Given the description of an element on the screen output the (x, y) to click on. 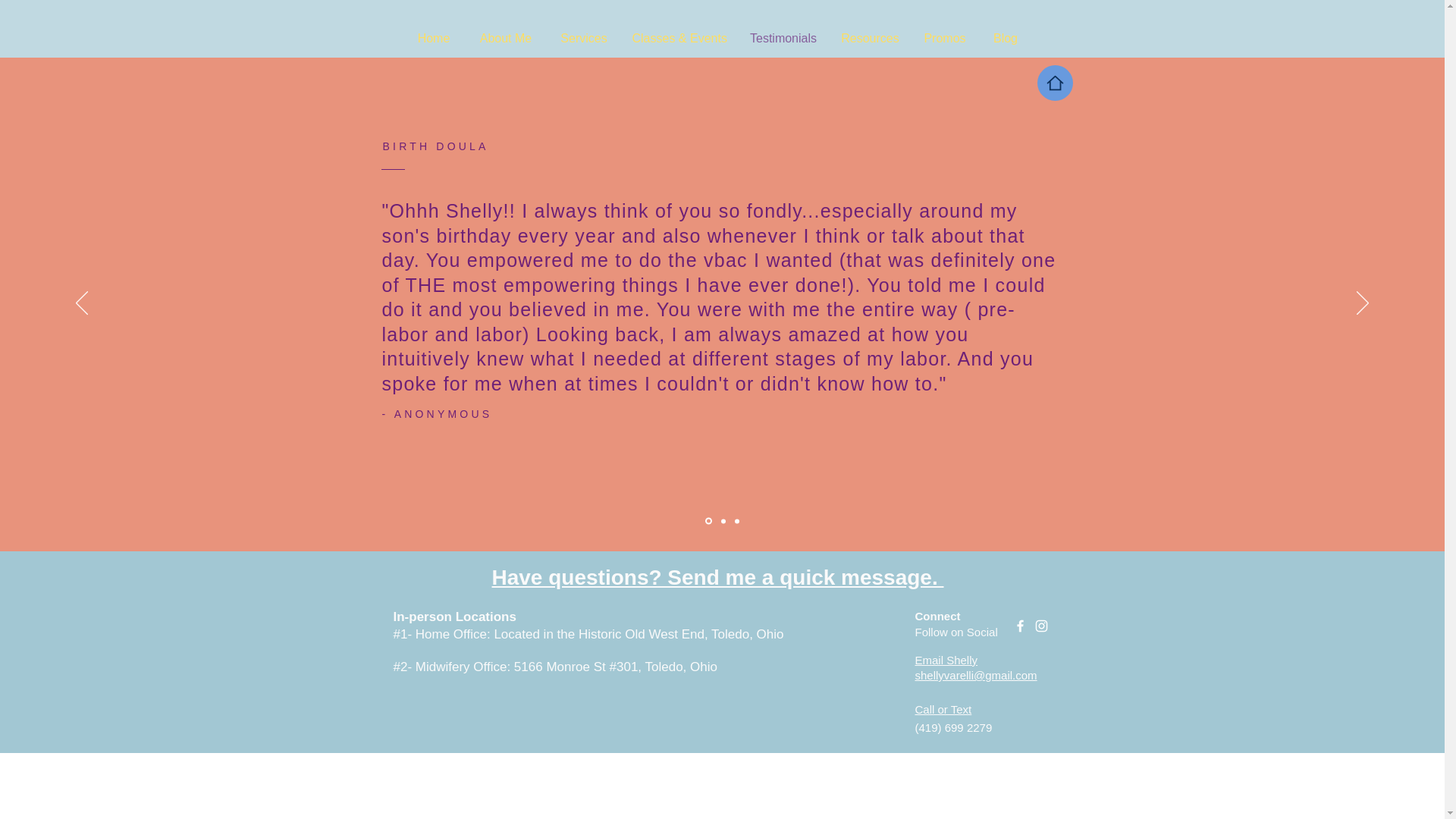
Promos (944, 38)
Testimonials (782, 38)
About Me (505, 38)
Have questions? Send me a quick message.  (717, 576)
Home (433, 38)
Blog (1005, 38)
Resources (870, 38)
Email Shelly (945, 659)
Services (584, 38)
